Given the description of an element on the screen output the (x, y) to click on. 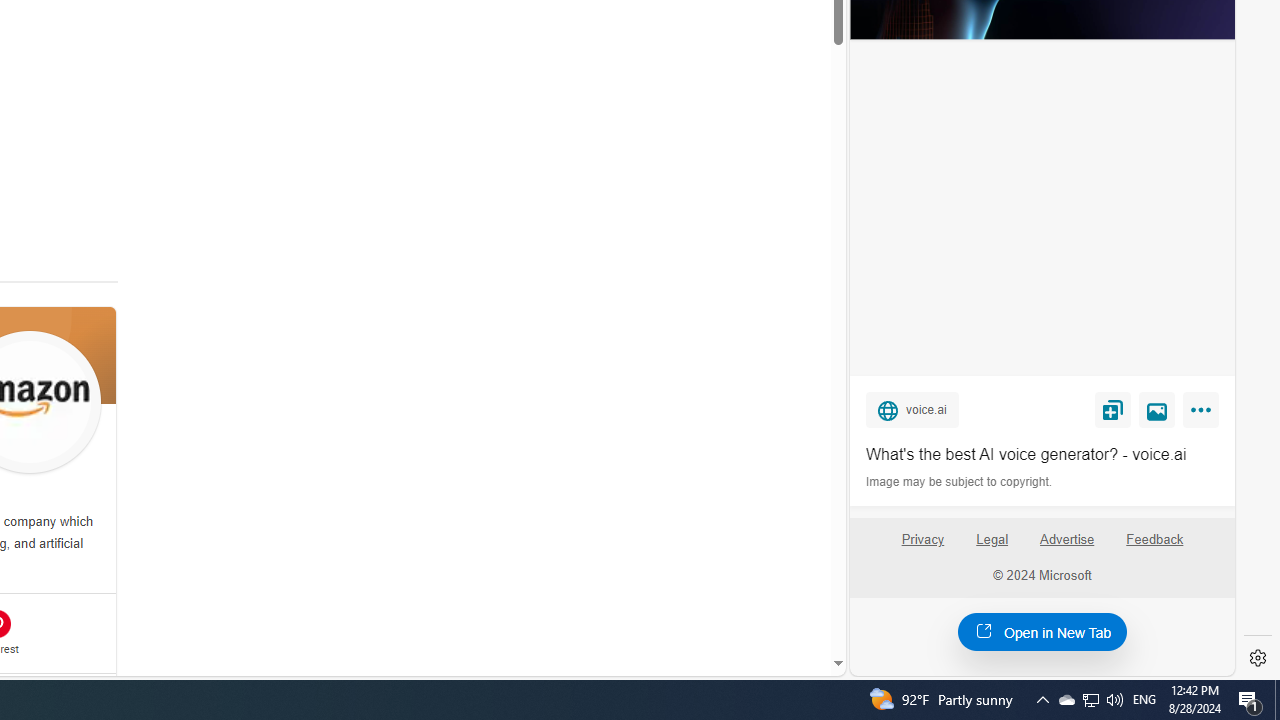
Search more (792, 604)
Image may be subject to copyright. (959, 481)
Show desktop (1277, 699)
Q2790: 100% (1114, 699)
Save (1112, 409)
User Promoted Notification Area (1090, 699)
Notification Chevron (1042, 699)
Legal (991, 539)
